Given the description of an element on the screen output the (x, y) to click on. 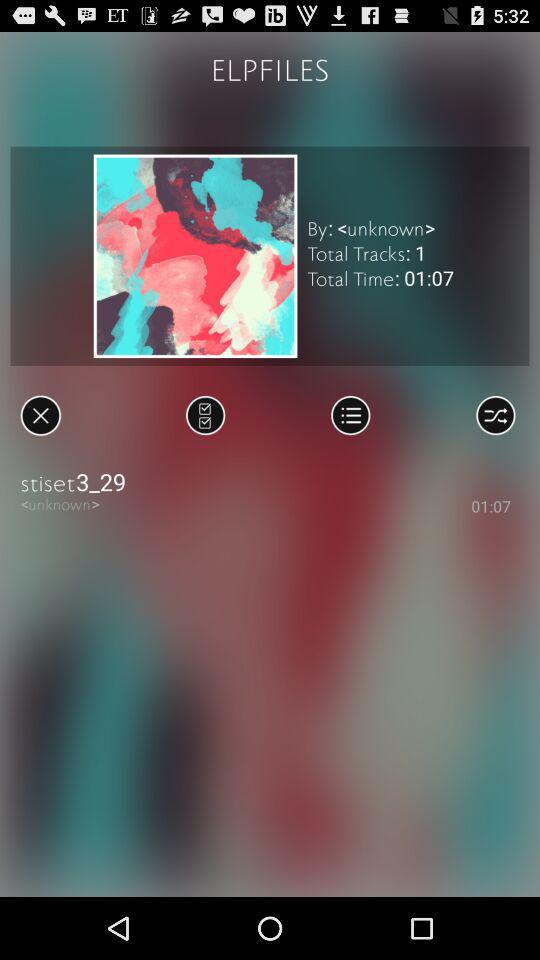
press icon above stiset3_29 item (350, 415)
